Given the description of an element on the screen output the (x, y) to click on. 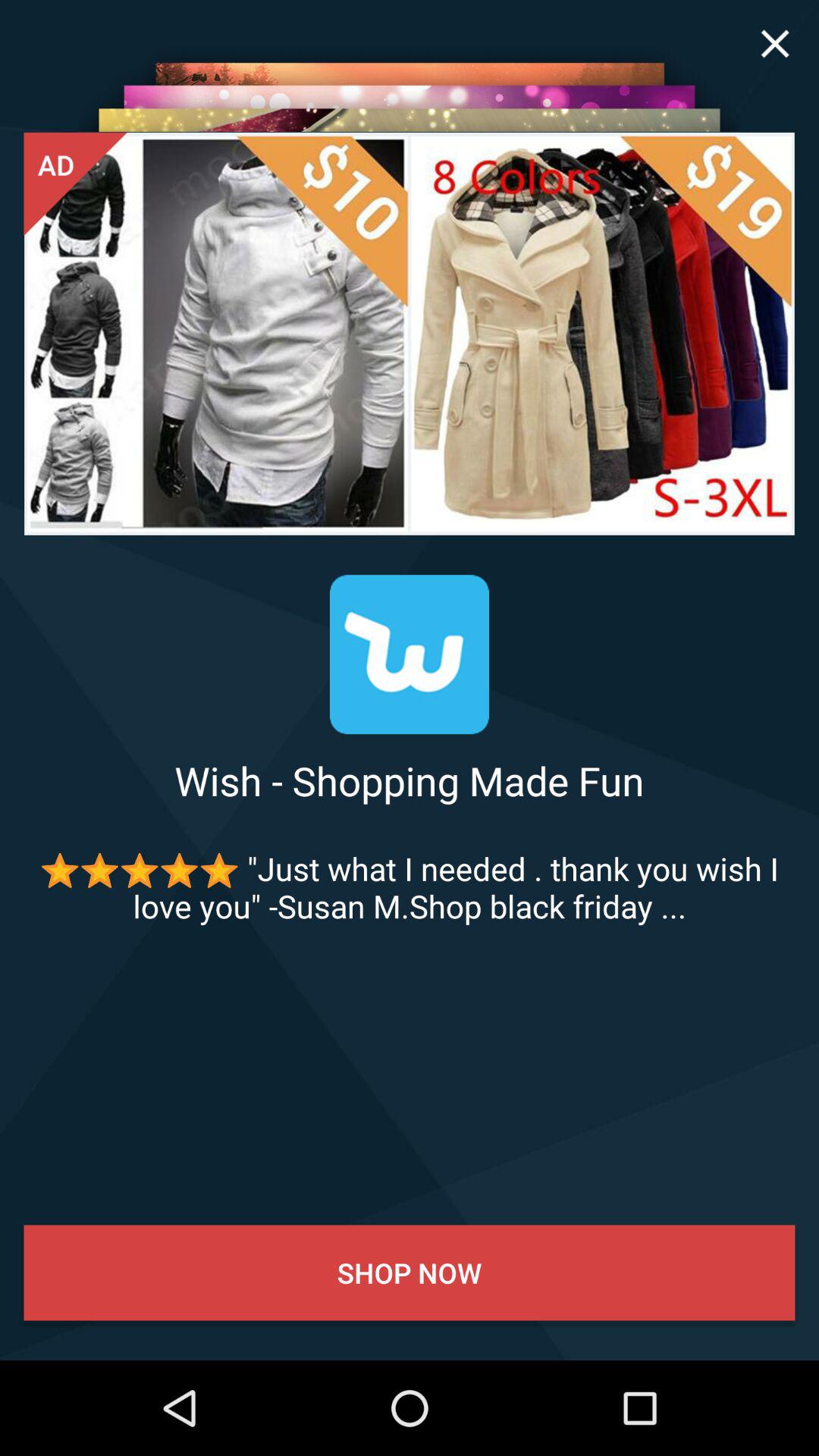
jump until the shop now icon (409, 1272)
